Given the description of an element on the screen output the (x, y) to click on. 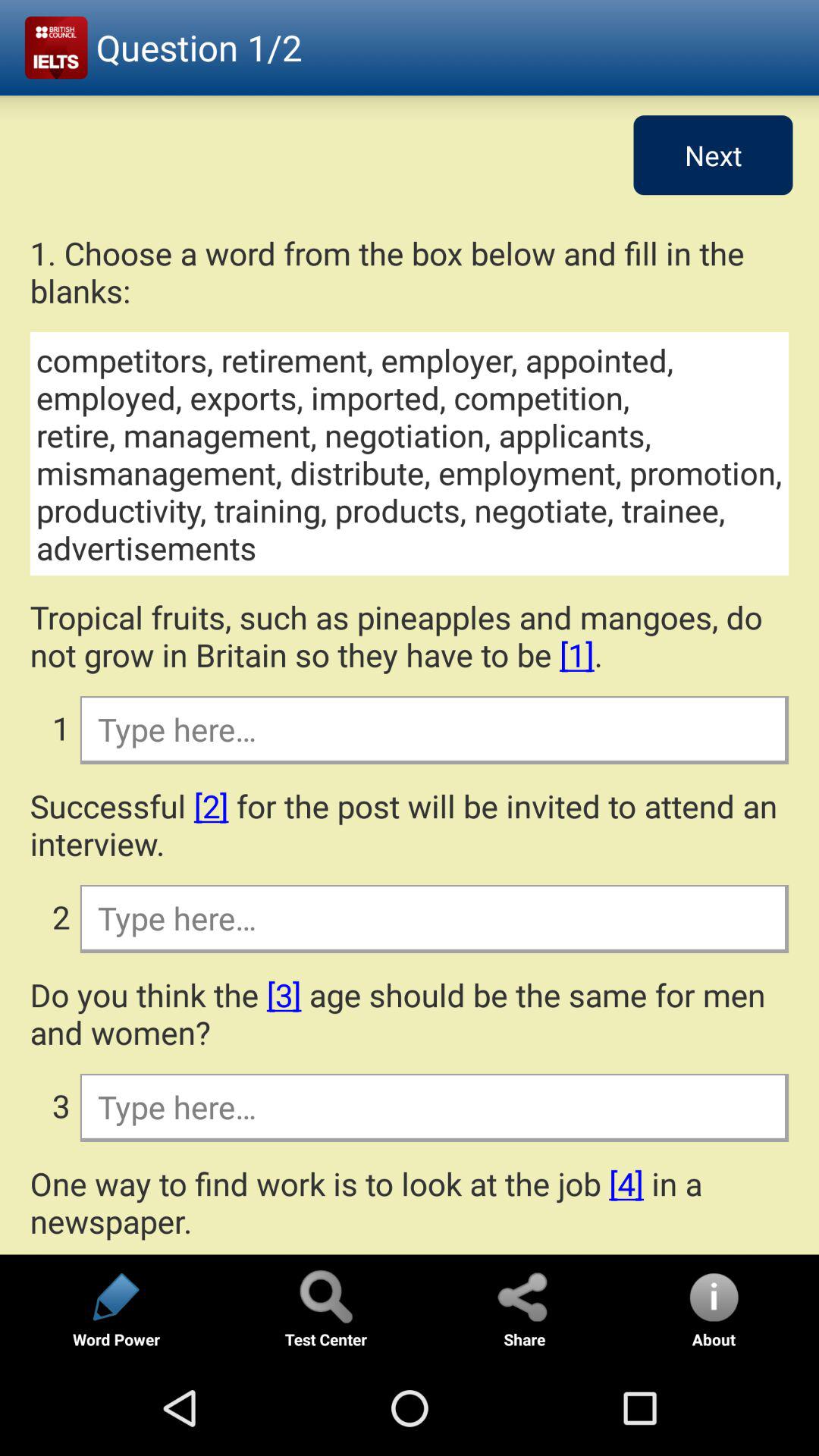
scroll until the 1 choose a icon (409, 271)
